Given the description of an element on the screen output the (x, y) to click on. 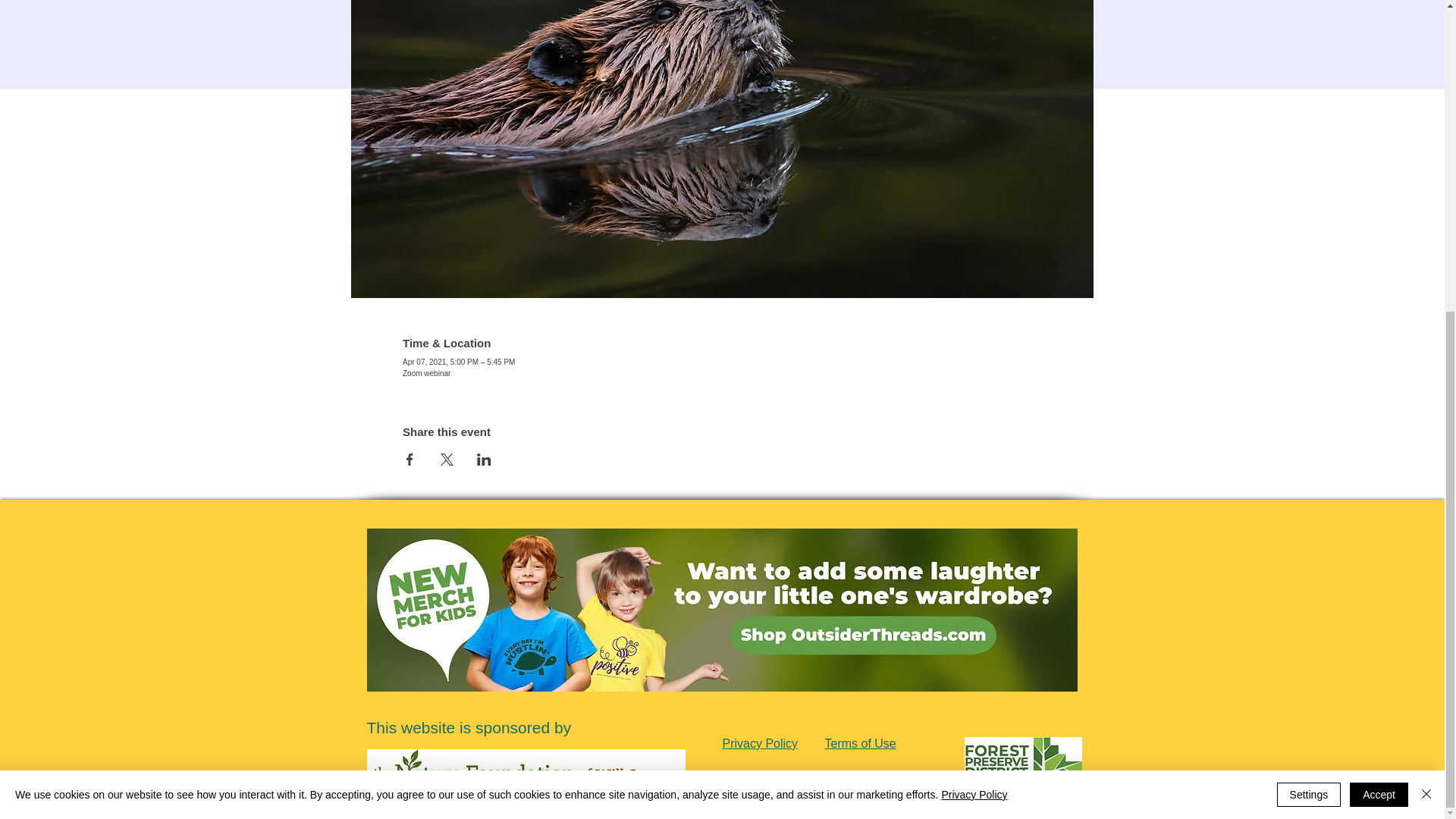
Forest Preserve District of Will County (863, 776)
Terms of Use (860, 743)
Settings (1308, 298)
Privacy Policy (759, 743)
Accept (1378, 298)
Merch-for-kids-banner.png (721, 609)
Privacy Policy (973, 298)
